Given the description of an element on the screen output the (x, y) to click on. 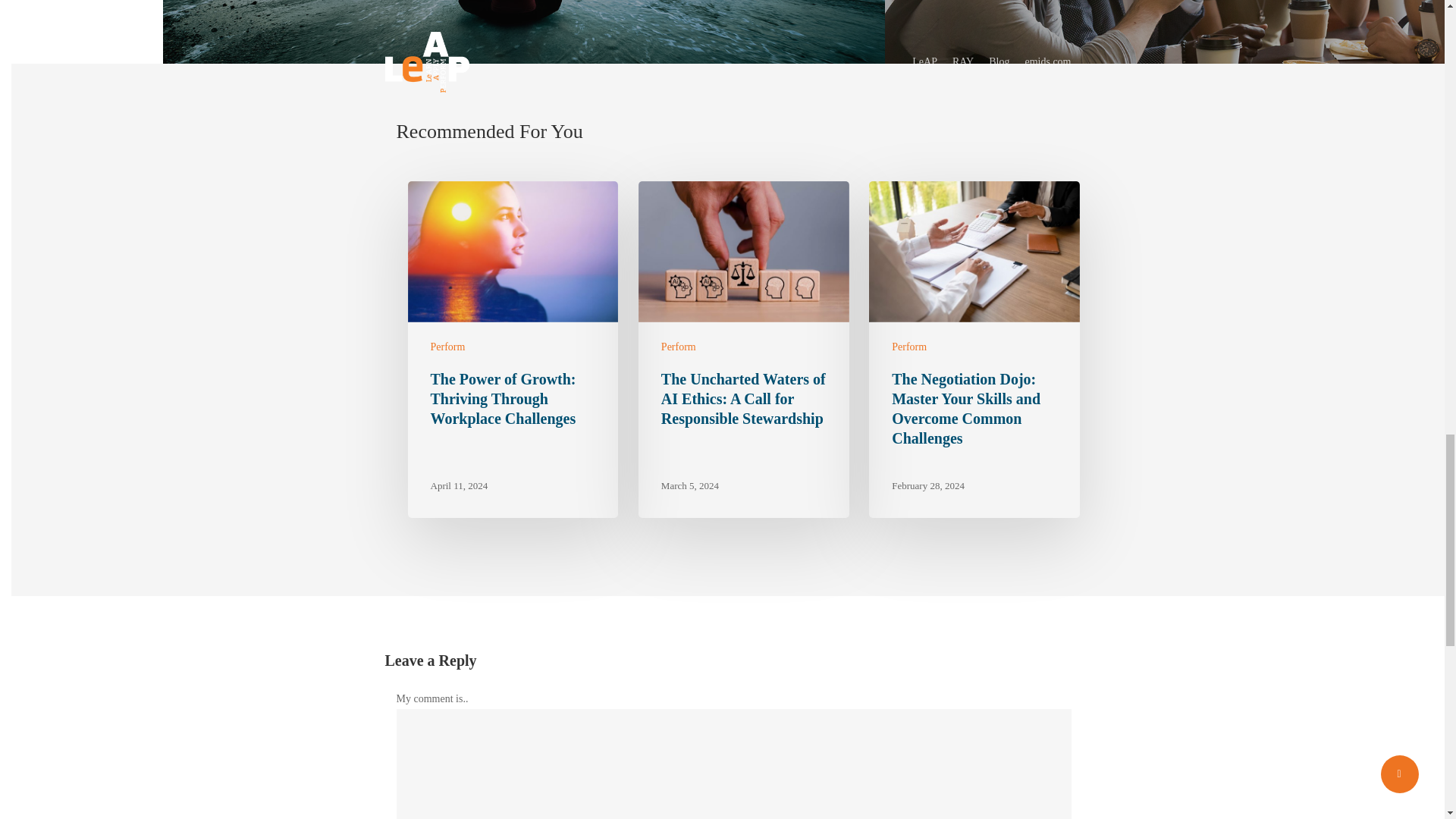
Perform (447, 346)
Perform (678, 346)
Perform (908, 346)
